Given the description of an element on the screen output the (x, y) to click on. 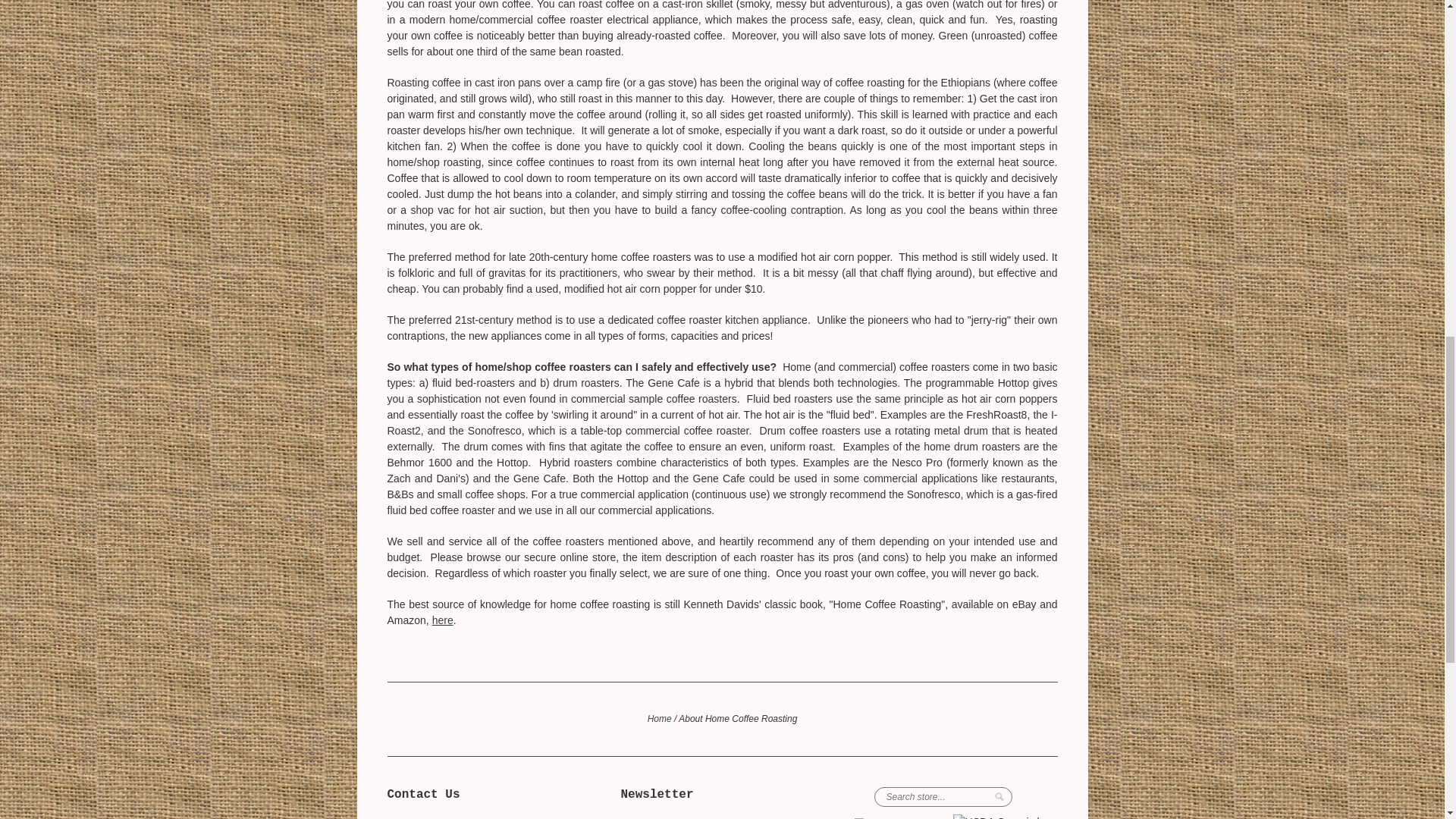
here (442, 620)
Home (659, 718)
